Given the description of an element on the screen output the (x, y) to click on. 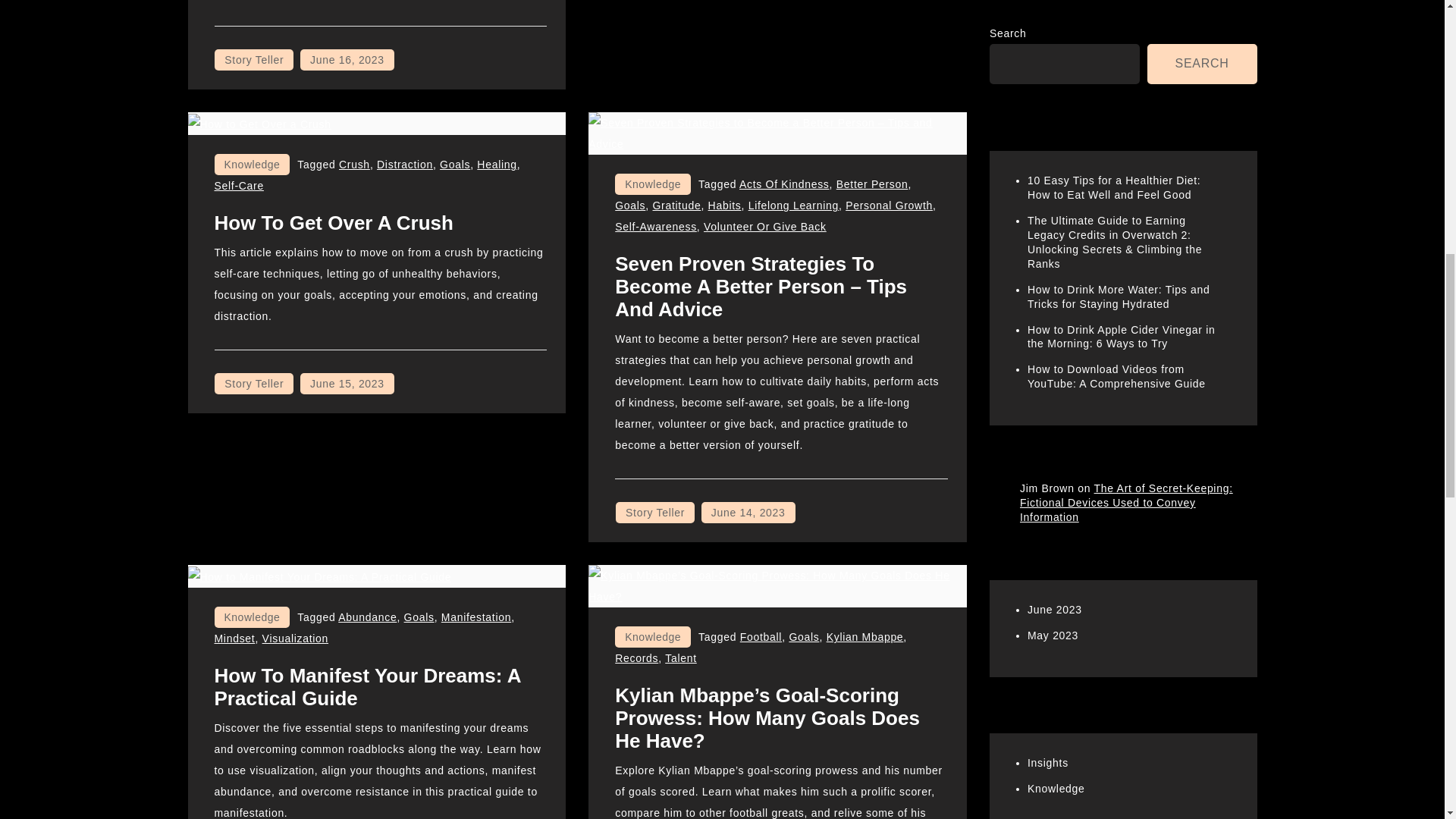
Distraction (404, 164)
Story Teller (254, 59)
Story Teller (254, 383)
Goals (454, 164)
Crush (354, 164)
How To Get Over A Crush (333, 222)
Healing (496, 164)
Knowledge (251, 164)
Self-Care (238, 185)
June 16, 2023 (346, 59)
